Given the description of an element on the screen output the (x, y) to click on. 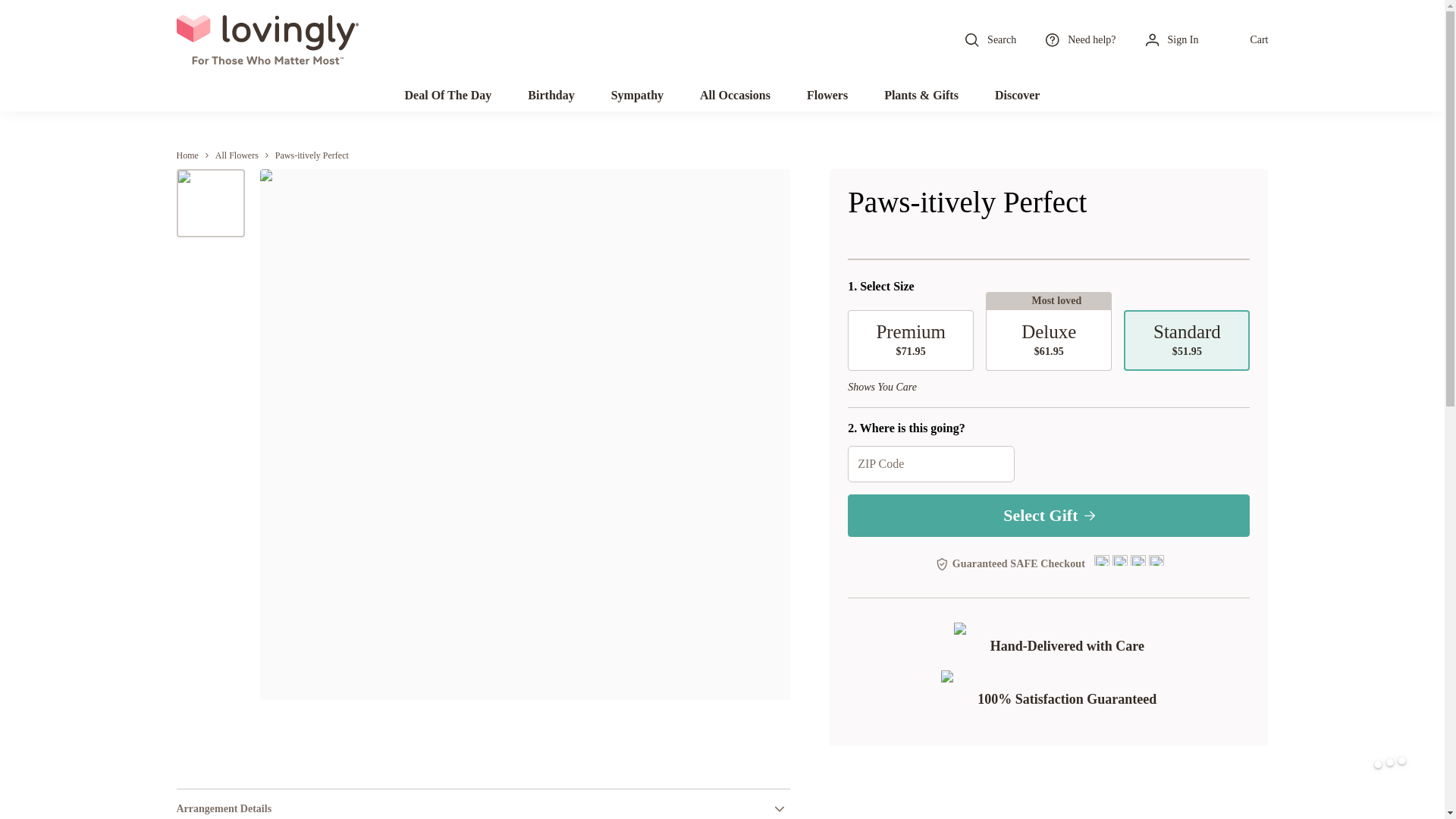
Birthday (550, 95)
Need help? (1079, 39)
Cart (1246, 40)
Sign In (1170, 39)
Sympathy (636, 95)
Deal Of The Day (449, 95)
Search (989, 40)
